Given the description of an element on the screen output the (x, y) to click on. 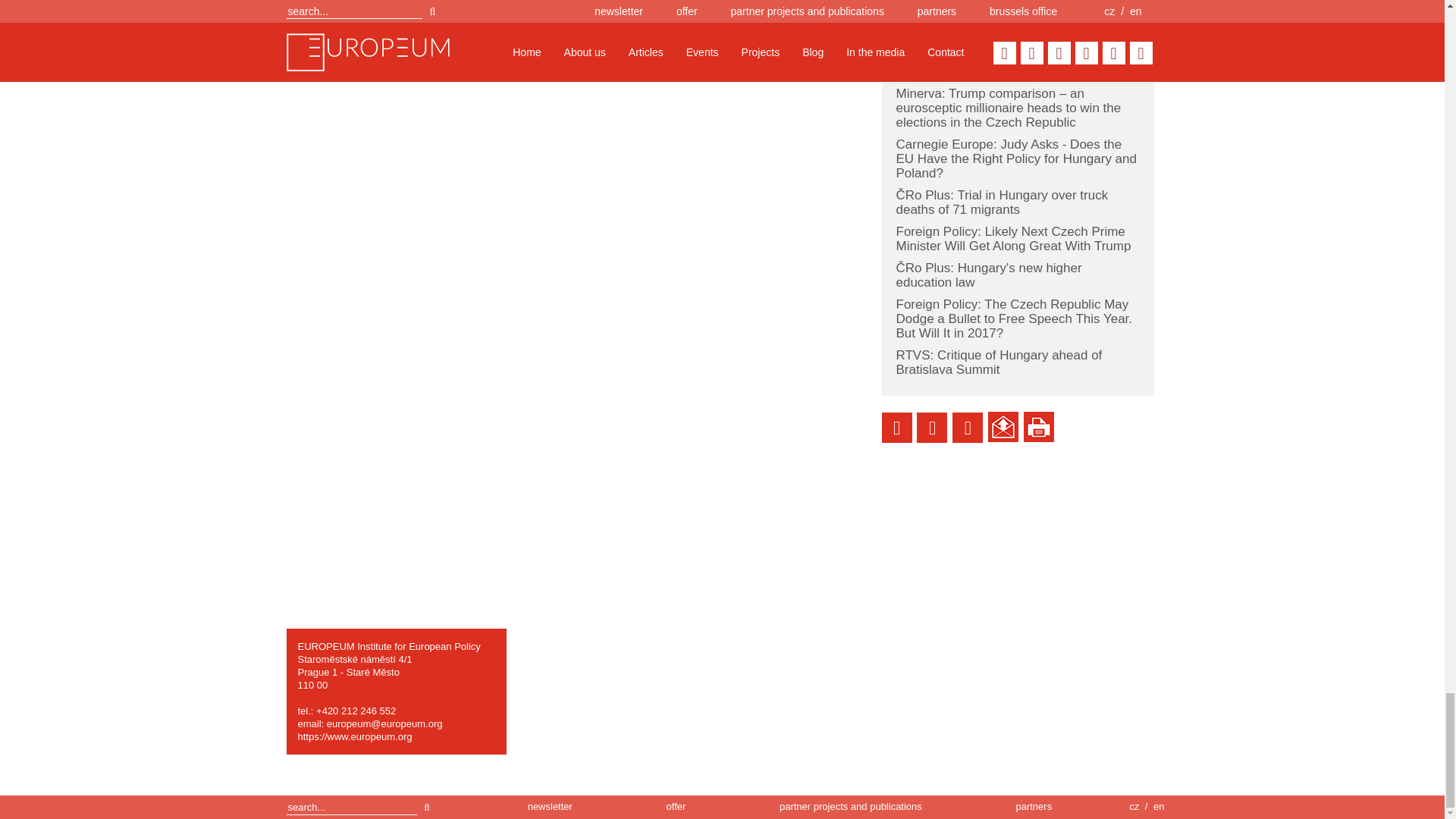
newsletter (549, 806)
